Given the description of an element on the screen output the (x, y) to click on. 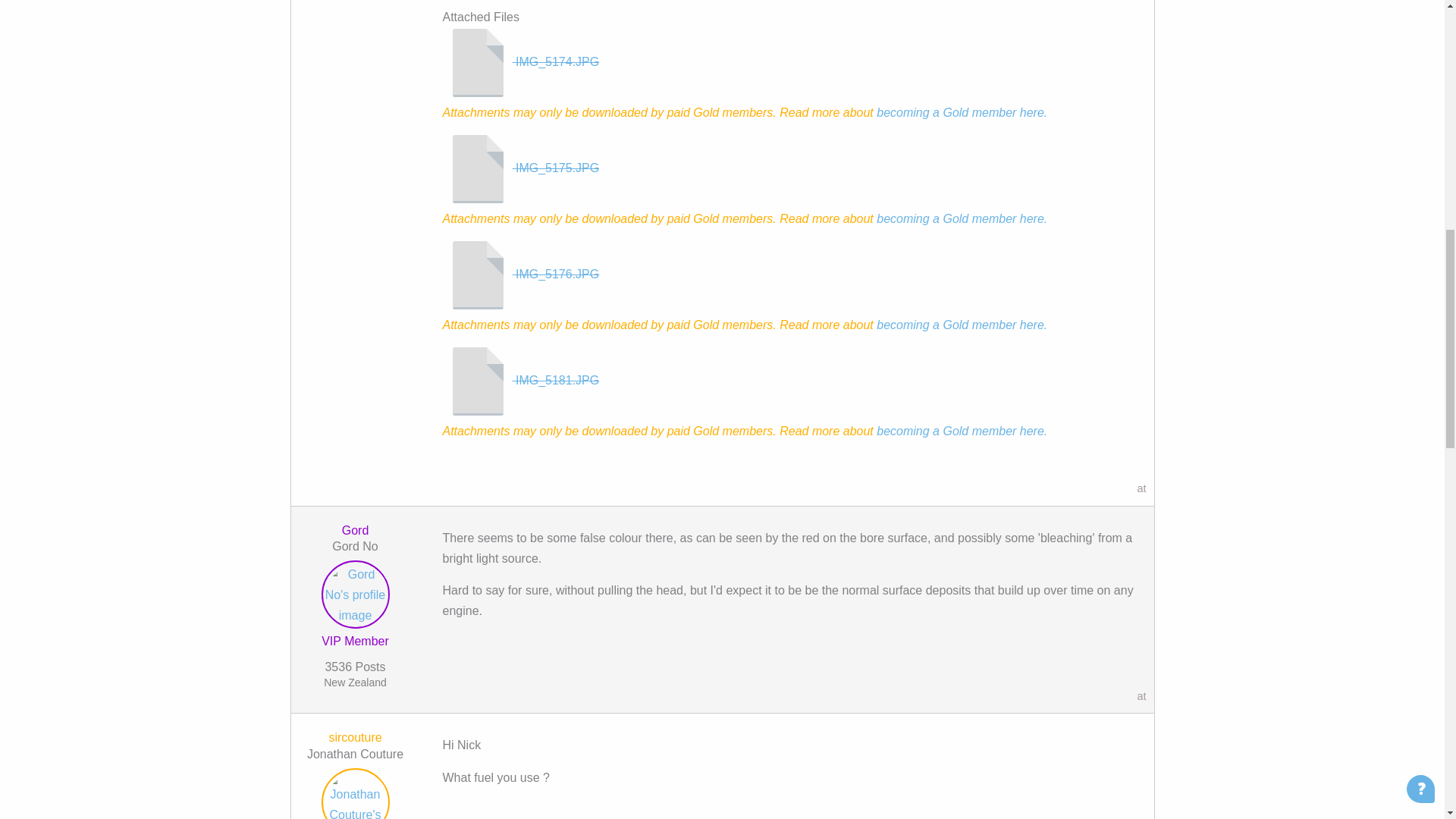
Click here to view Gord (355, 597)
Click here to view sircouture (355, 795)
Click here to view Gord (355, 530)
Click here to view sircouture (355, 737)
